Given the description of an element on the screen output the (x, y) to click on. 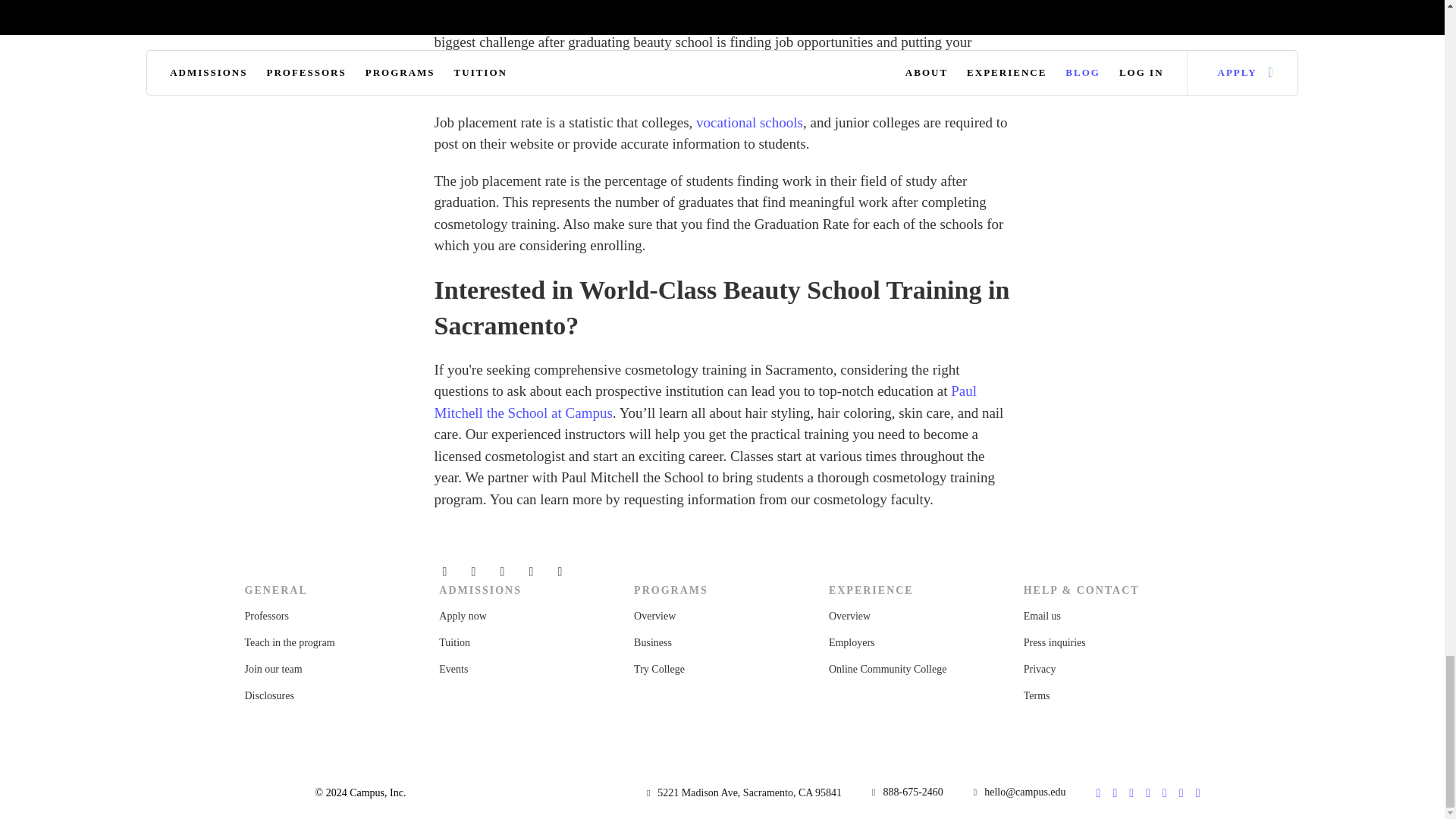
career services (785, 64)
Disclosures (269, 695)
vocational schools (749, 122)
Join our team (272, 668)
Professors (266, 615)
Teach in the program (289, 642)
Paul Mitchell the School at Campus (704, 401)
